Given the description of an element on the screen output the (x, y) to click on. 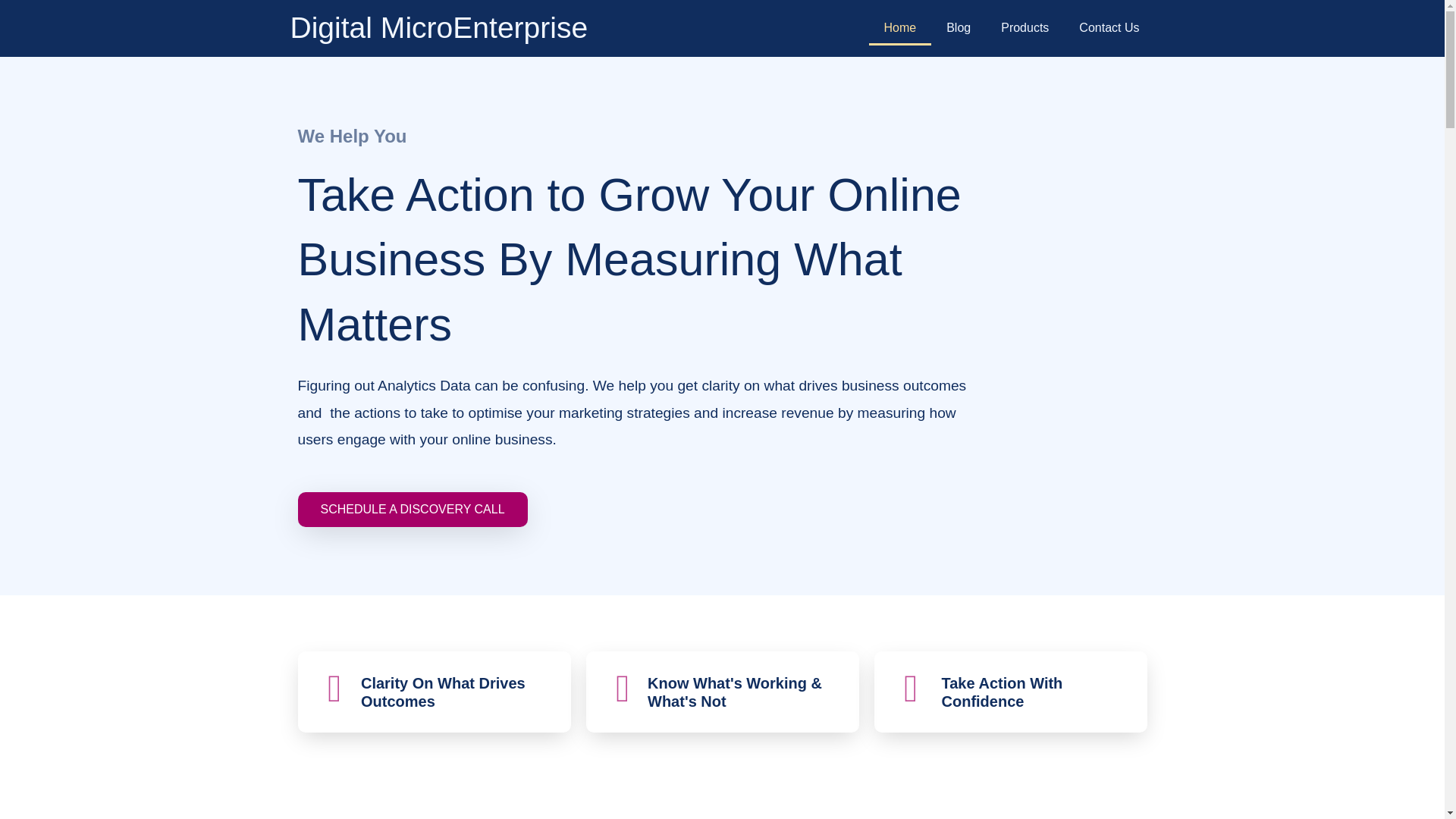
Home (900, 27)
Digital MicroEnterprise (438, 27)
Contact Us (1109, 27)
Products (1024, 27)
SCHEDULE A DISCOVERY CALL (412, 509)
Blog (958, 27)
